Given the description of an element on the screen output the (x, y) to click on. 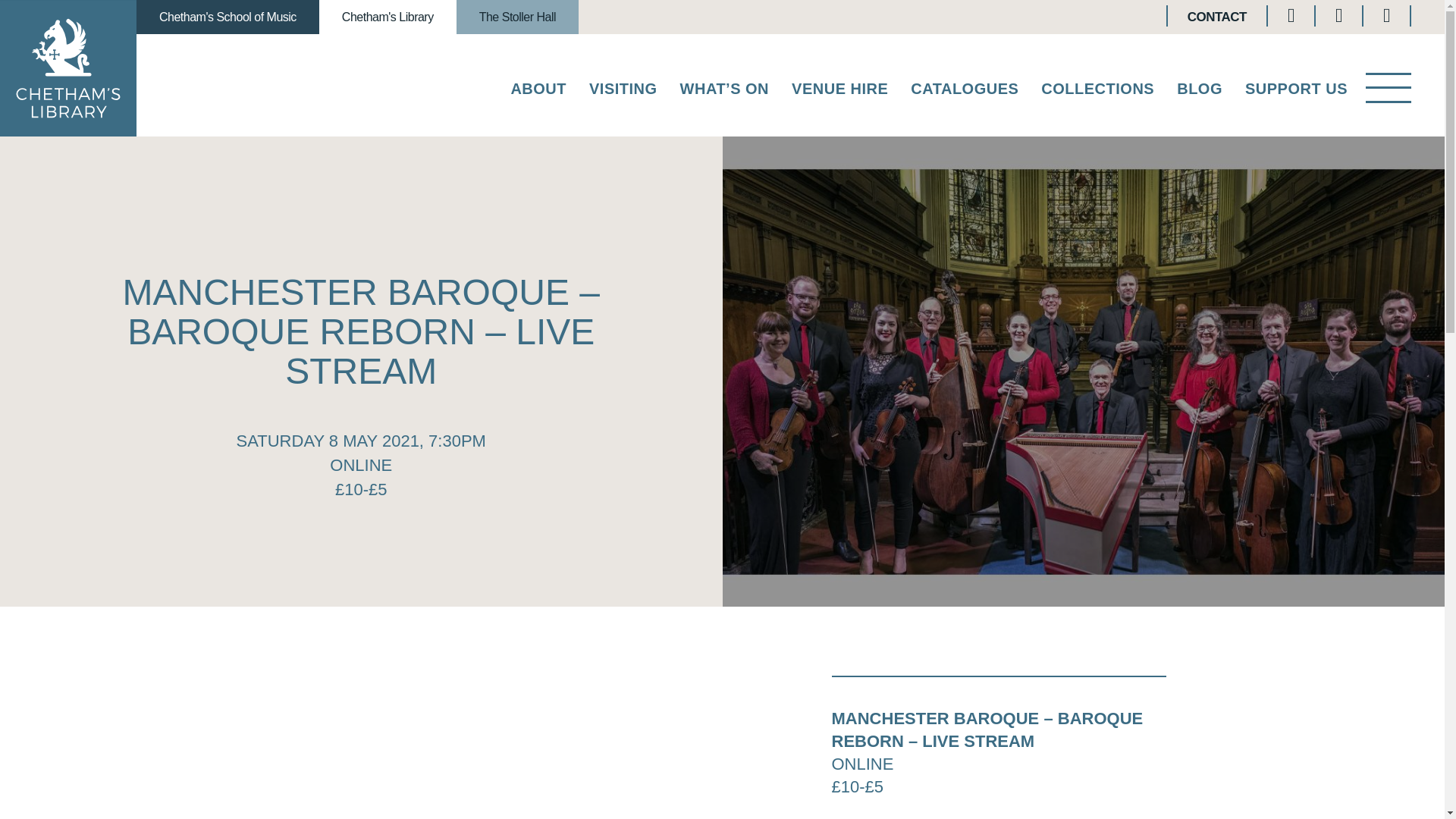
Chetham's Library (387, 16)
VISITING (623, 91)
VENUE HIRE (840, 91)
ABOUT (538, 91)
The Stoller Hall (517, 16)
CATALOGUES (964, 91)
Chetham's School of Music (227, 16)
CONTACT (1217, 16)
CHETHAM'S LIBRARY (68, 68)
